Given the description of an element on the screen output the (x, y) to click on. 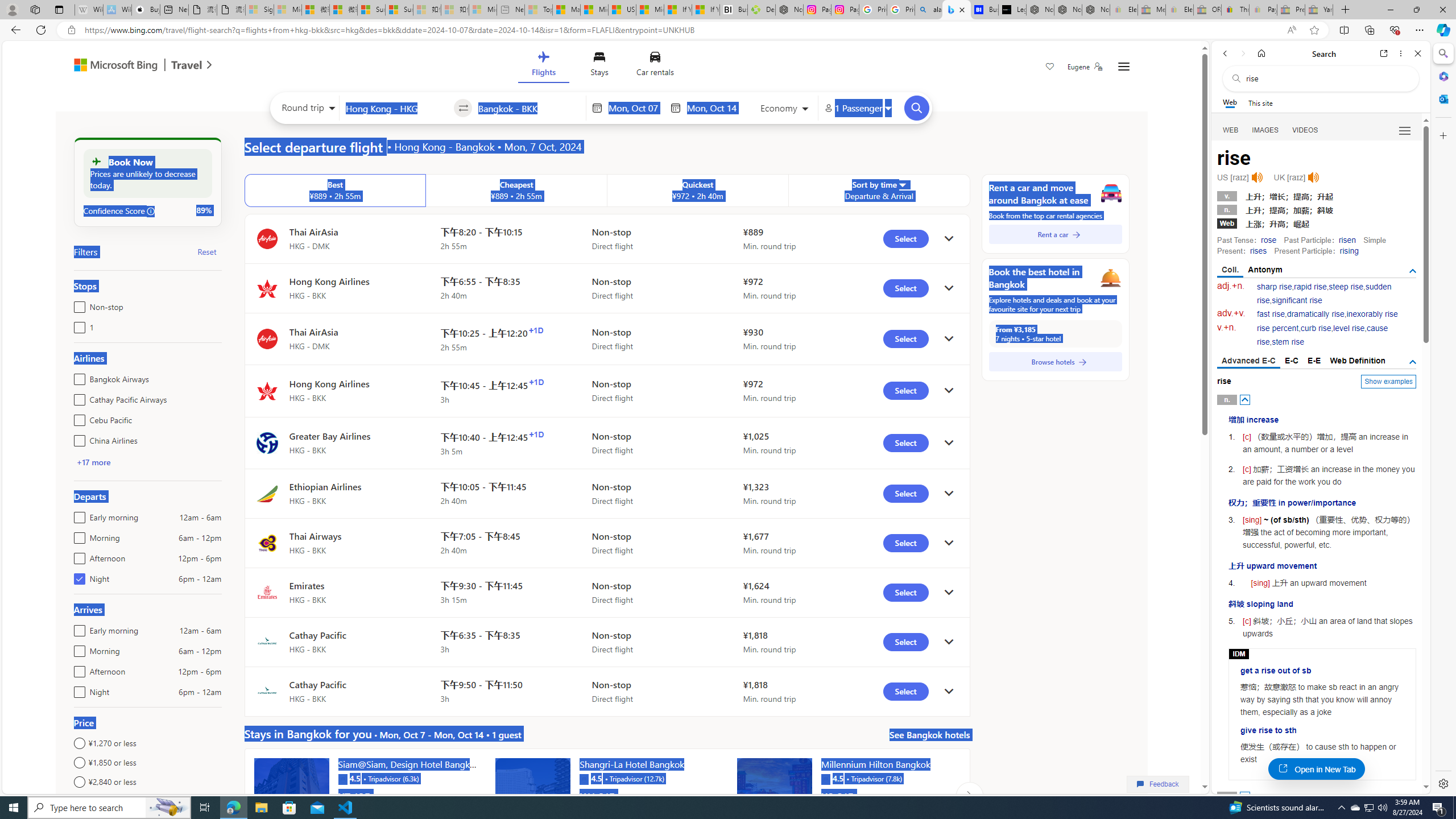
Rent a car (1055, 234)
Afternoon12pm - 6pm (76, 669)
Cebu Pacific (76, 417)
